Given the description of an element on the screen output the (x, y) to click on. 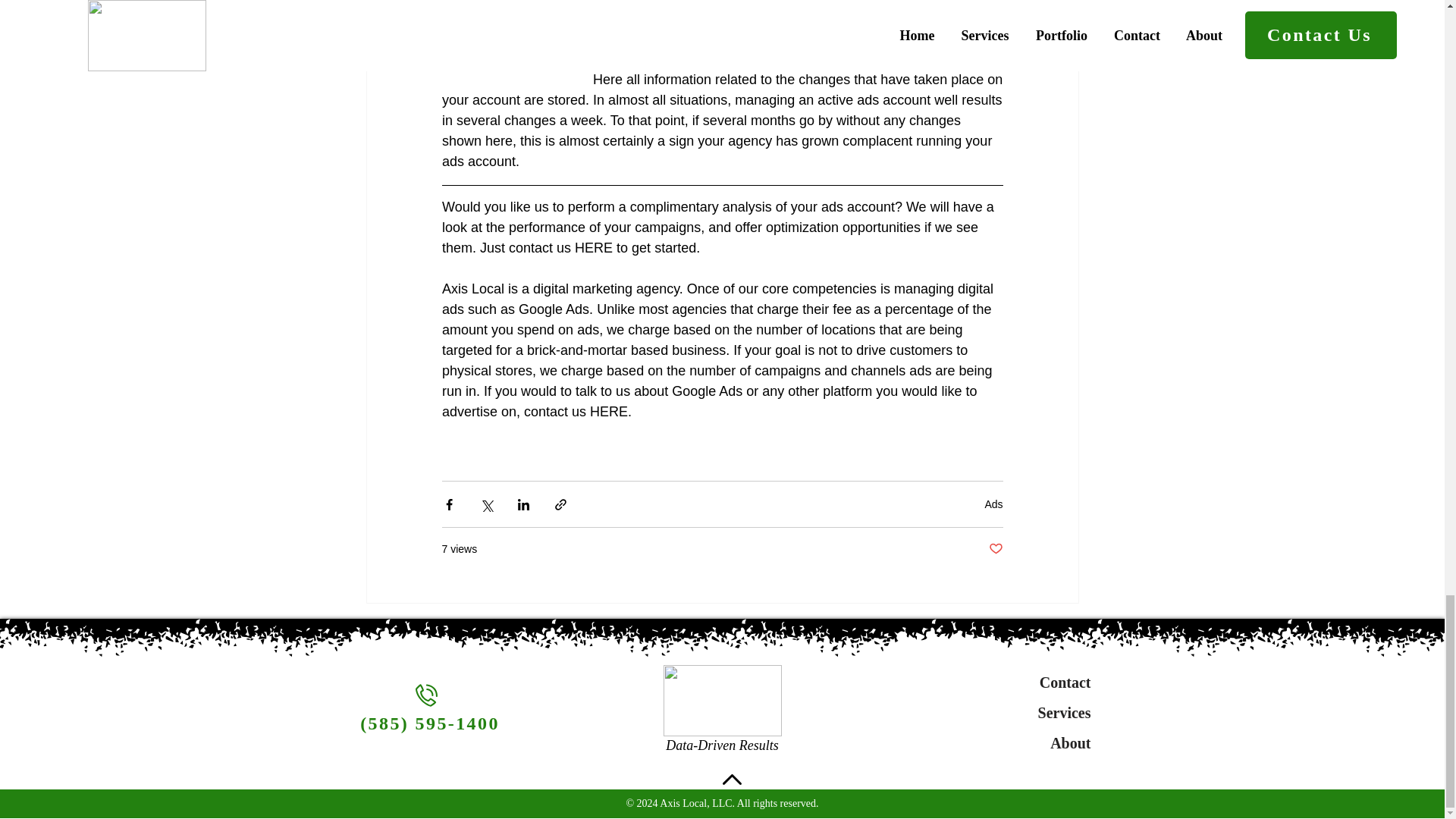
Contact (1039, 682)
Services (1039, 712)
Ads (993, 503)
Post not marked as liked (995, 549)
About (1039, 743)
